Given the description of an element on the screen output the (x, y) to click on. 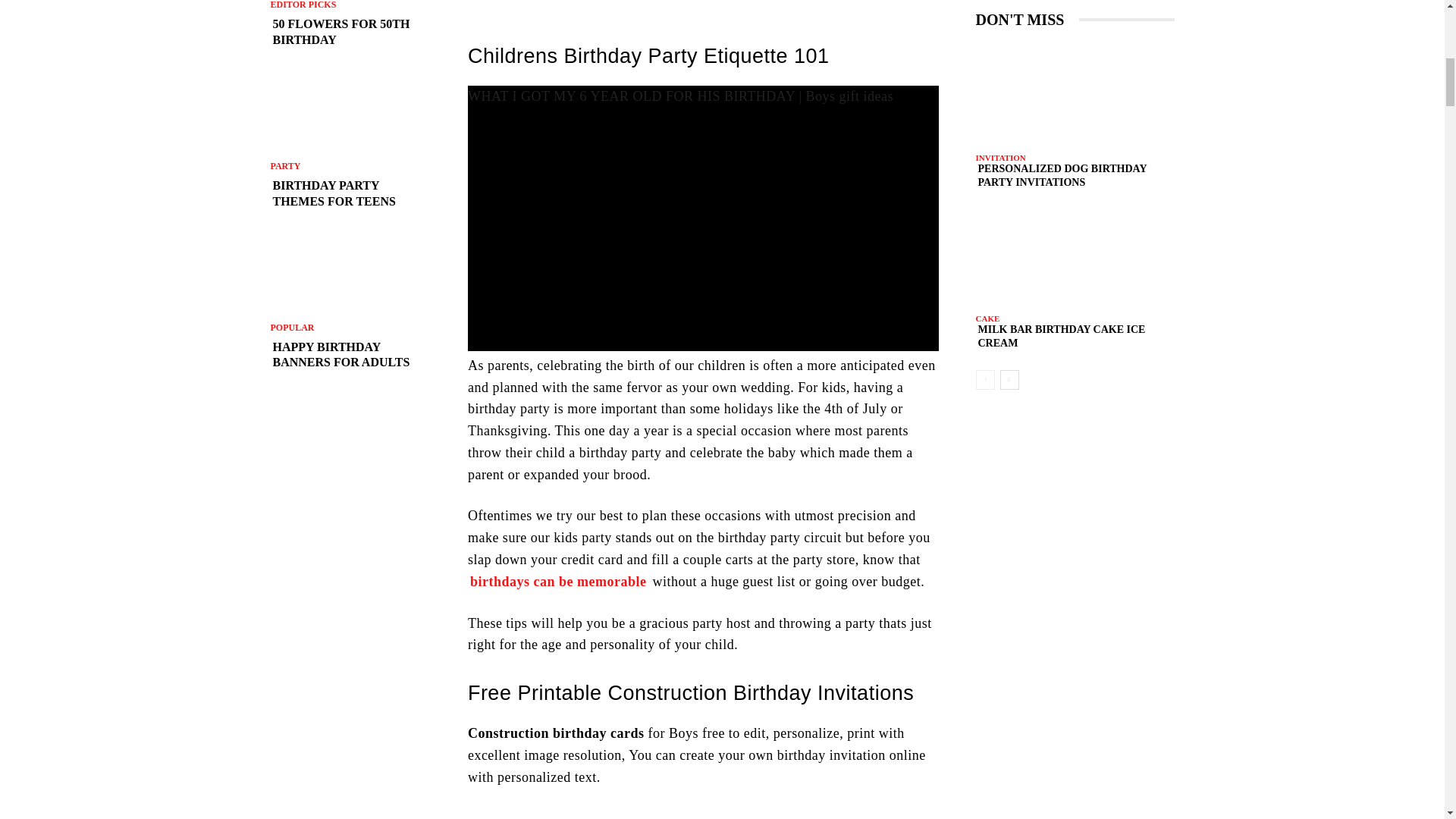
Birthday Party Themes For Teens (349, 193)
50 Flowers For 50th Birthday (349, 32)
Birthday Party Themes For Teens (349, 111)
